Given the description of an element on the screen output the (x, y) to click on. 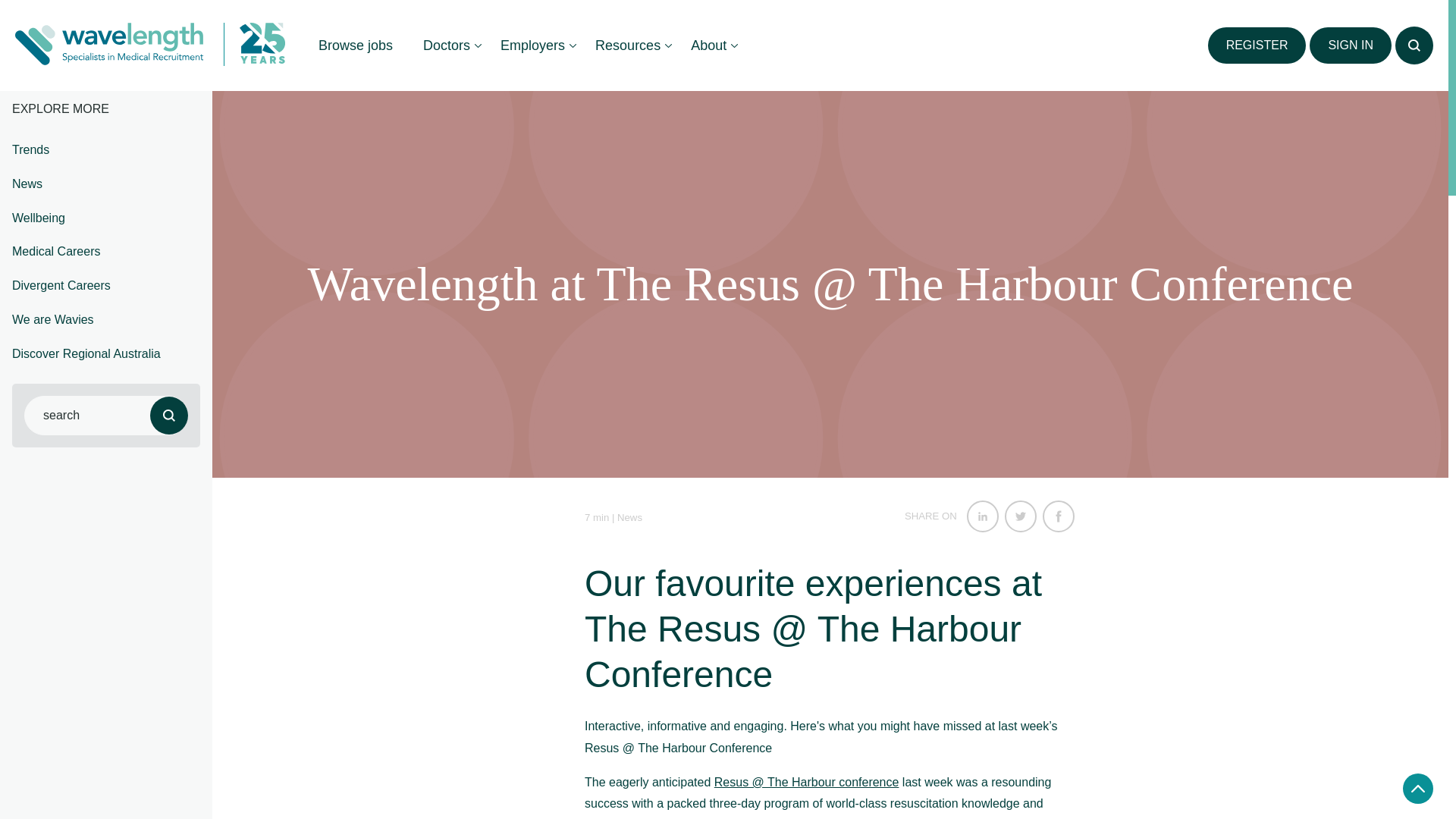
Resources (627, 45)
Doctors (445, 45)
Browse jobs (354, 45)
Celebrating 25 years (254, 44)
Visit our homepage (109, 46)
Doctors (445, 45)
Browse jobs (354, 45)
Employers (531, 45)
